Given the description of an element on the screen output the (x, y) to click on. 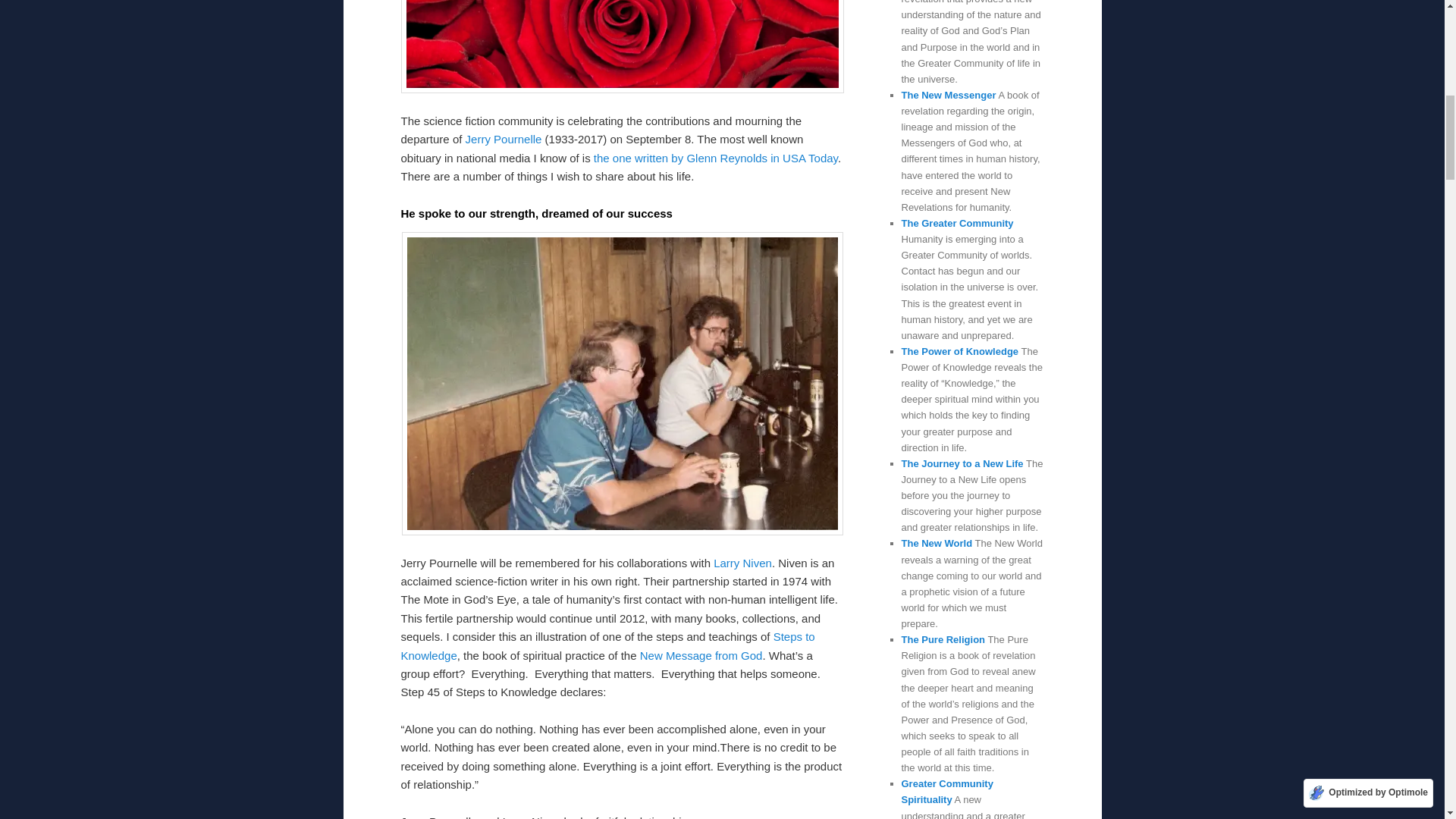
Steps to Knowledge (606, 644)
New Message from God (701, 655)
Jerry Pournelle (503, 138)
Larry Niven (742, 562)
the one written by Glenn Reynolds in USA Today (716, 157)
